Given the description of an element on the screen output the (x, y) to click on. 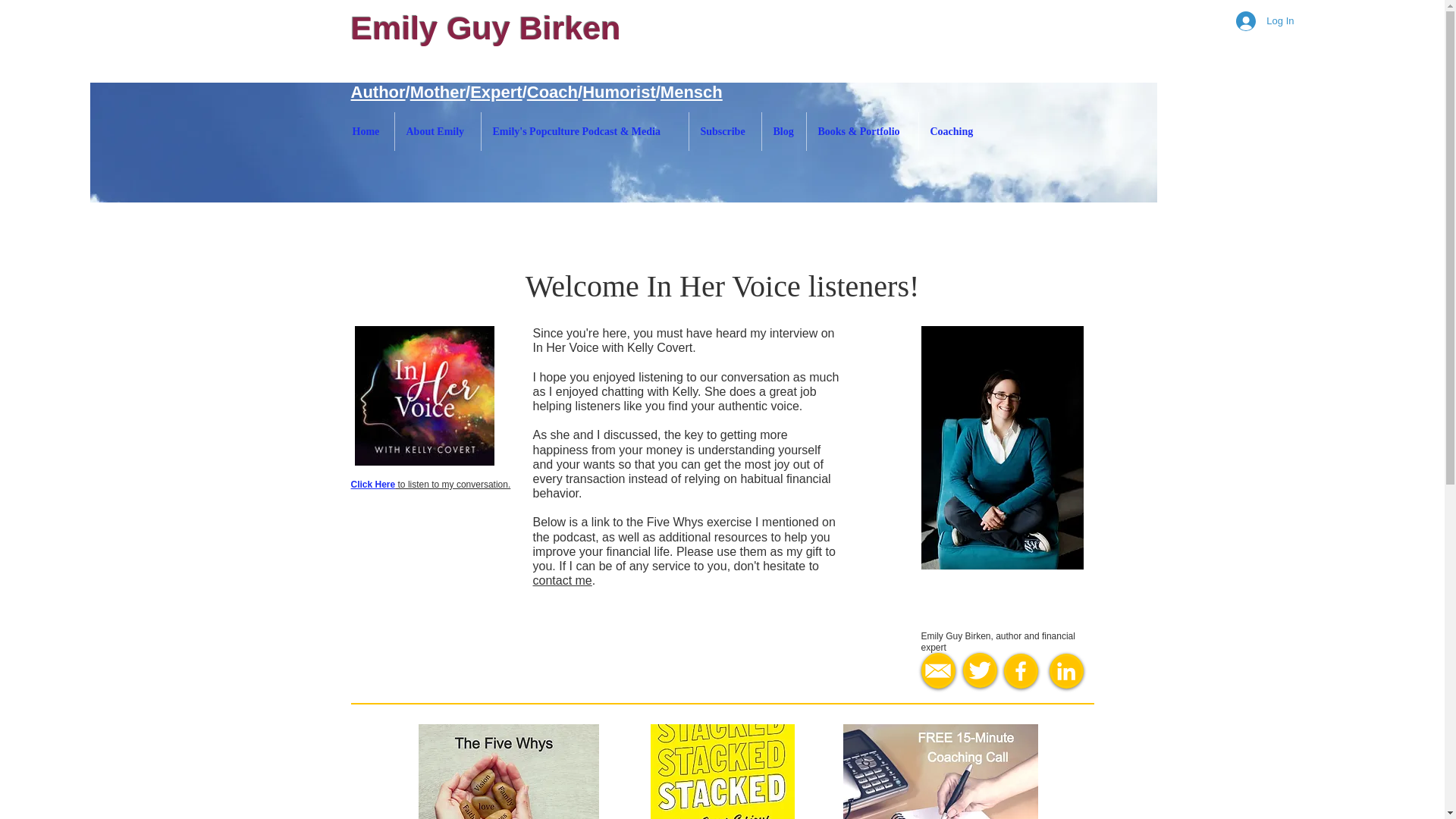
Mother (437, 91)
Expert (495, 91)
Mensch (691, 91)
About Emily (437, 131)
Home (367, 131)
Author (377, 91)
Coach (552, 91)
Blog (783, 131)
contact me (561, 580)
Sky Full of Light (622, 142)
What does money mean to you? (508, 771)
Coaching (953, 131)
Click Here to listen to my conversation. (430, 484)
Humorist (619, 91)
Log In (1264, 21)
